Given the description of an element on the screen output the (x, y) to click on. 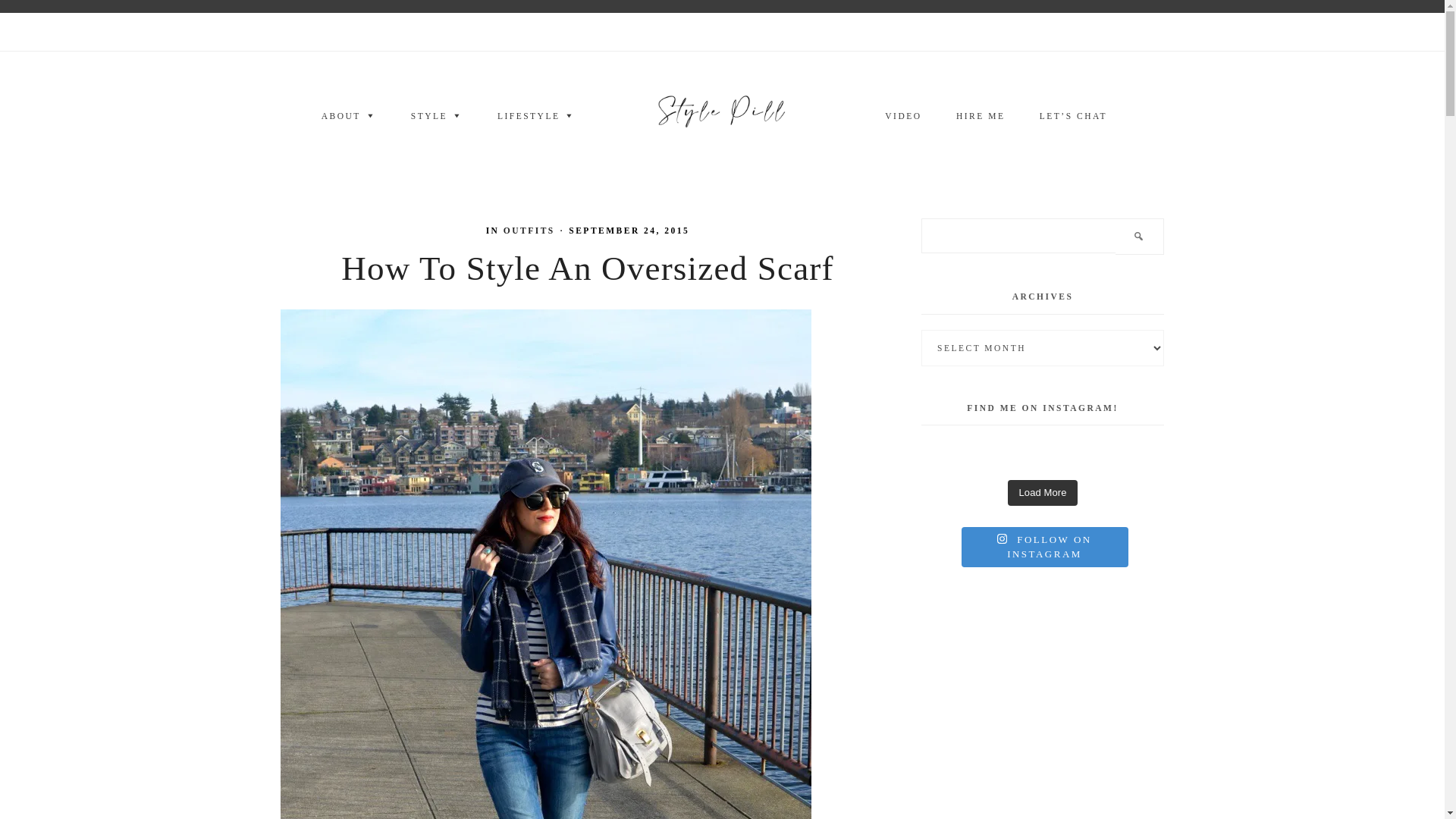
OUTFITS (528, 230)
HIRE ME (980, 116)
LIFESTYLE (536, 116)
Load More (1042, 492)
ABOUT (348, 116)
VIDEO (902, 116)
How To Style An Oversized Scarf (586, 268)
My Style Pill (722, 115)
STYLE (437, 116)
FOLLOW ON INSTAGRAM (1044, 546)
